Given the description of an element on the screen output the (x, y) to click on. 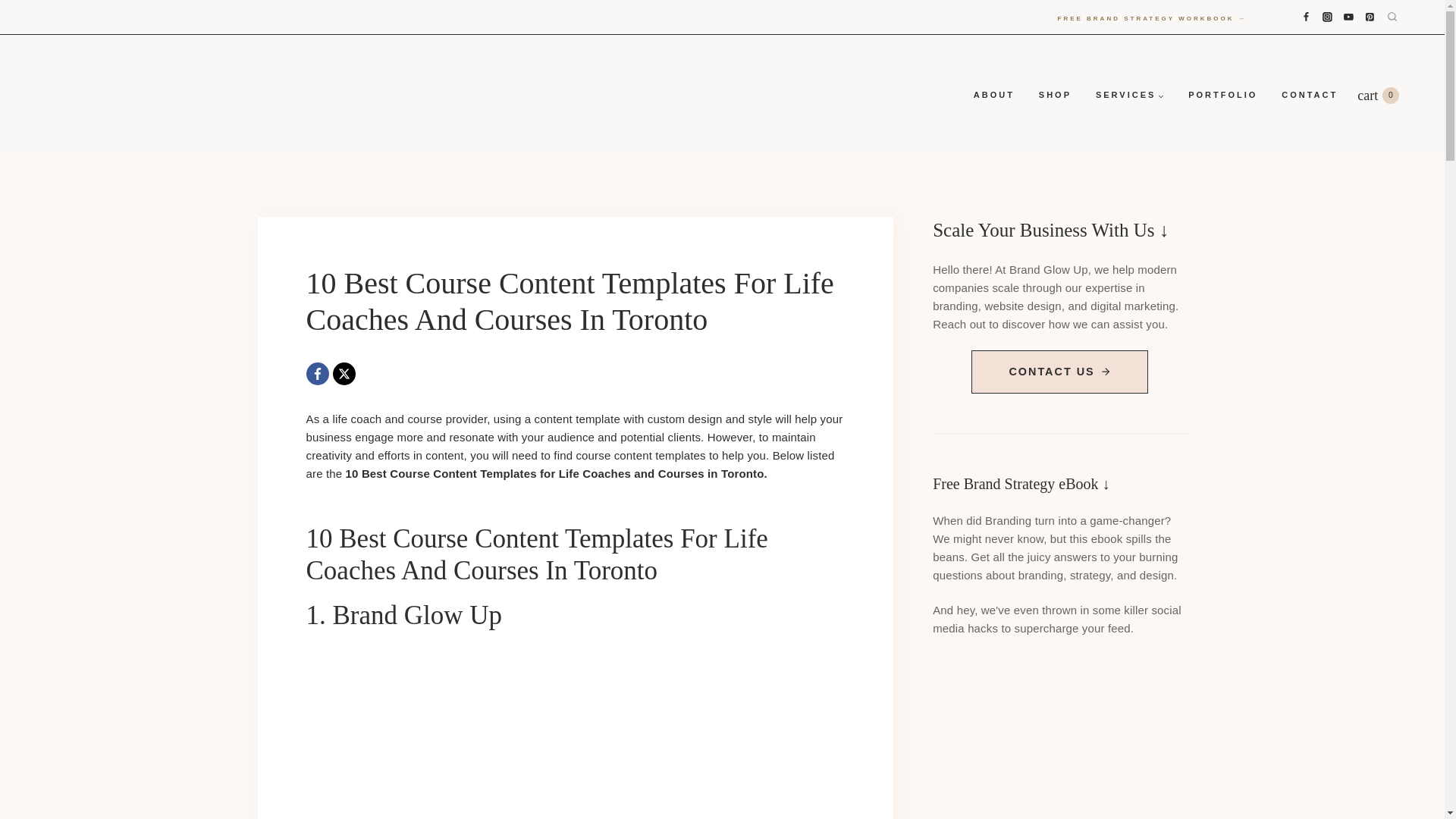
CONTACT (1384, 96)
PORTFOLIO (1309, 95)
SHOP (1222, 95)
ABOUT (1054, 95)
SERVICES (993, 95)
